Given the description of an element on the screen output the (x, y) to click on. 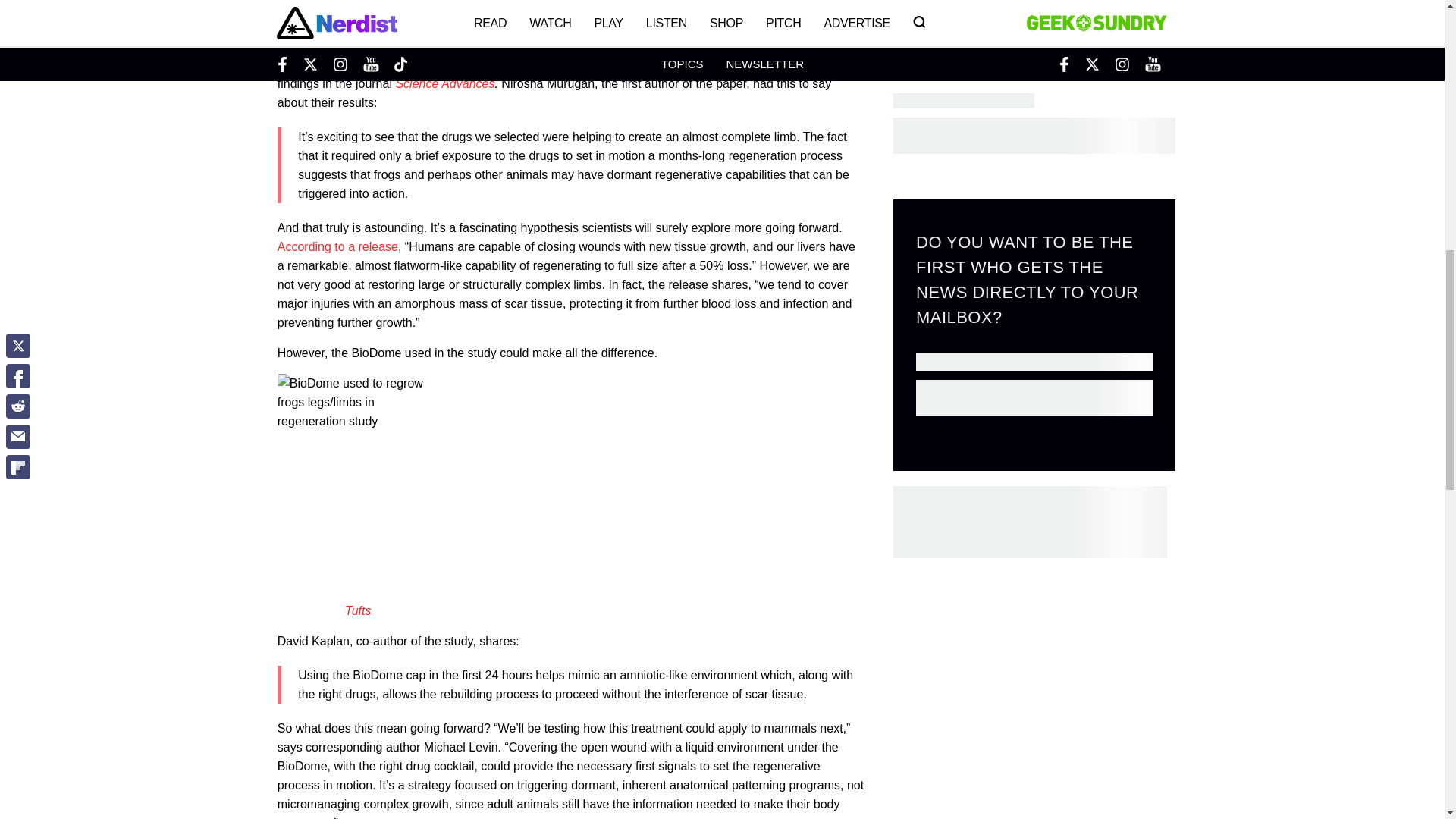
According to a release (337, 246)
Tufts (358, 610)
Science Advances (444, 83)
